Given the description of an element on the screen output the (x, y) to click on. 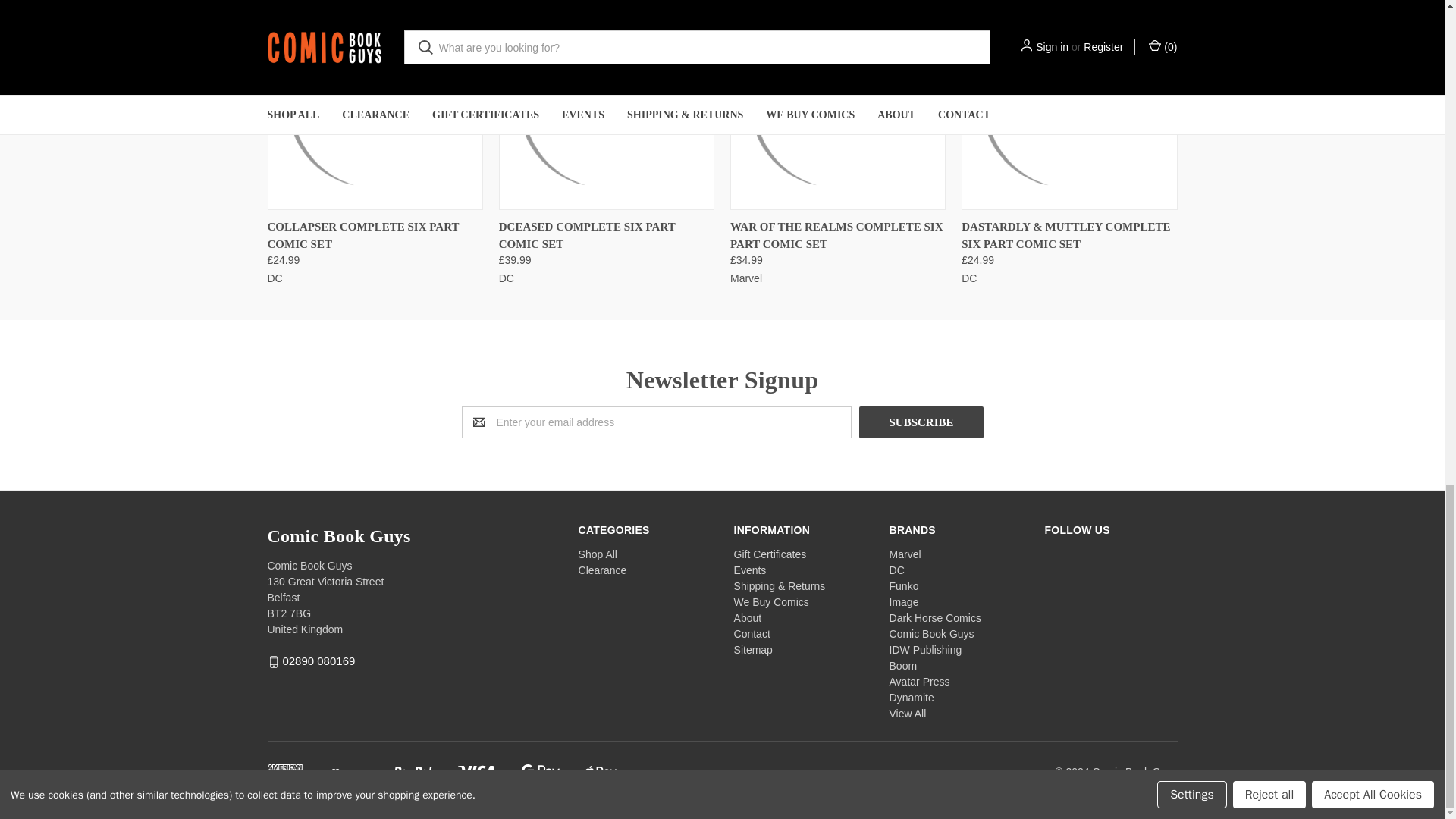
WAR OF THE REALMS COMPLETE SIX PART COMIC SET (837, 104)
Subscribe (920, 422)
DCEASED COMPLETE SIX PART COMIC SET (606, 104)
COLLAPSER COMPLETE SIX PART COMIC SET (374, 104)
